Given the description of an element on the screen output the (x, y) to click on. 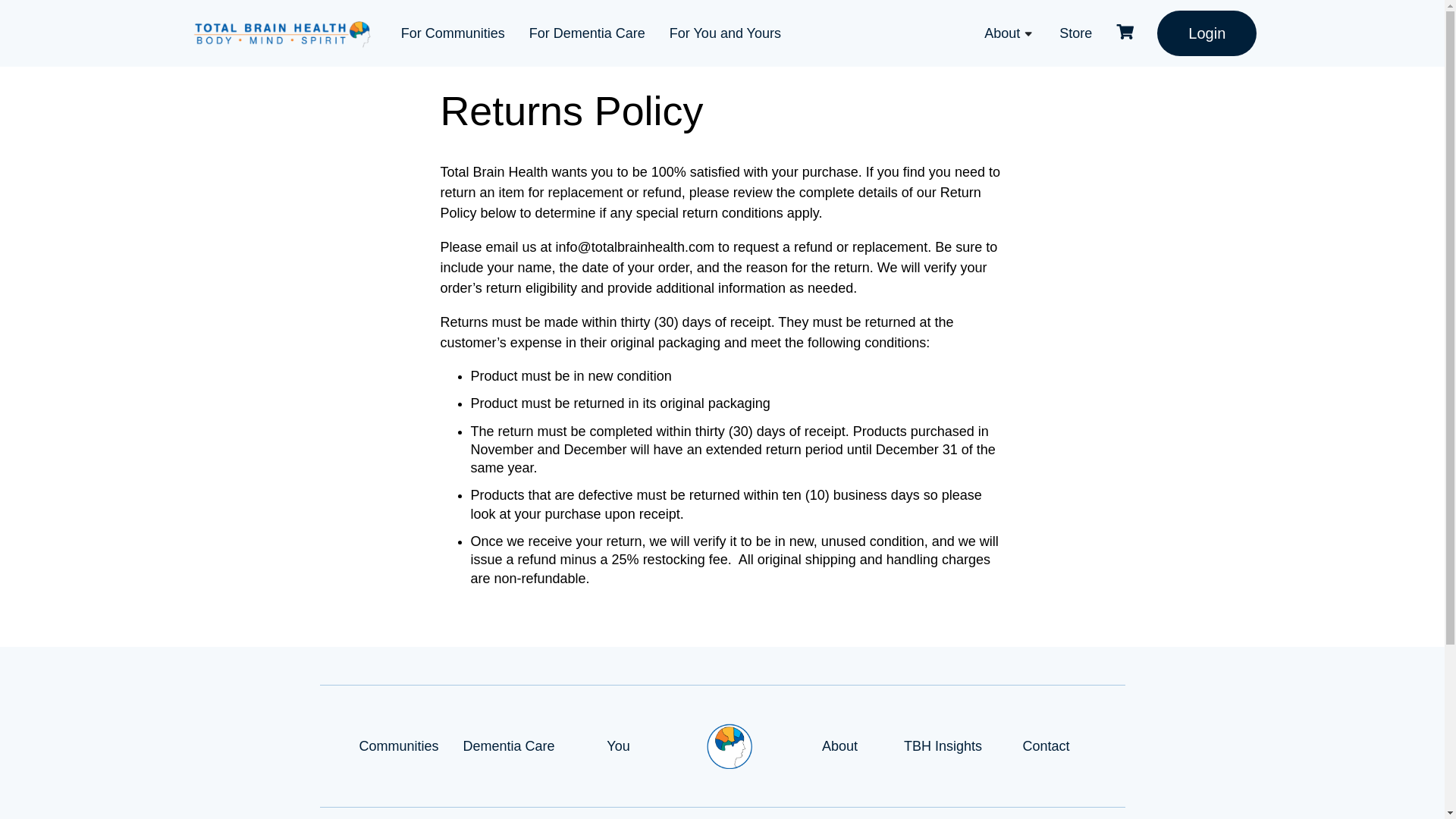
For Dementia Care (587, 33)
For Communities (452, 33)
For You and Yours (724, 33)
toggle dropdown menu - About (1027, 34)
Dementia Care (507, 745)
Shopping Cart (1124, 33)
Login (1206, 33)
About (840, 745)
Store (1075, 33)
Communities (398, 745)
You (617, 745)
Home (729, 746)
Contact (1046, 745)
TBH Insights (942, 745)
About (1002, 33)
